Given the description of an element on the screen output the (x, y) to click on. 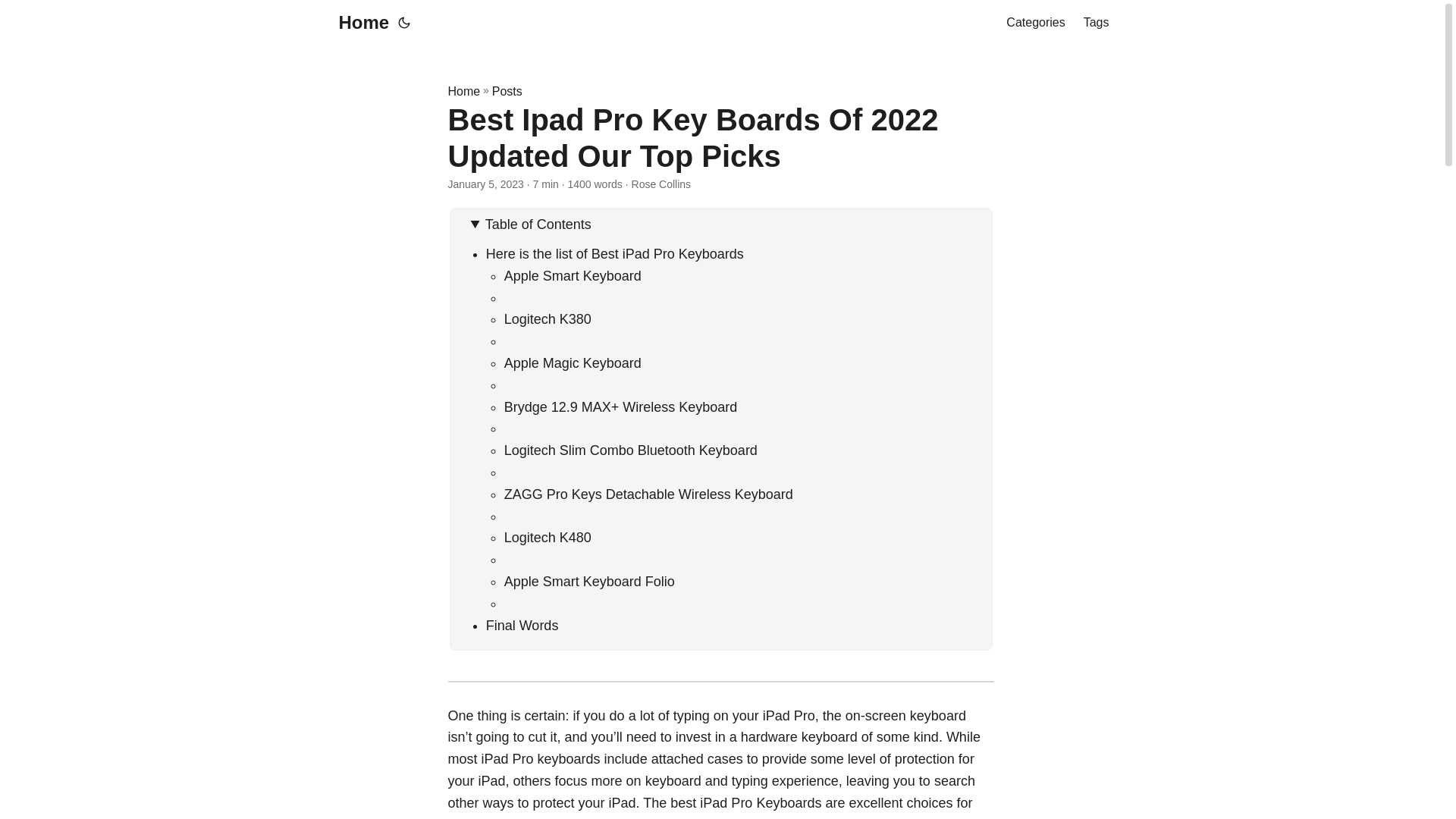
Categories (1035, 22)
Apple Magic Keyboard (572, 363)
Logitech Slim Combo Bluetooth Keyboard (630, 450)
Final Words (522, 625)
Logitech K380 (547, 319)
Apple Smart Keyboard Folio (589, 581)
Home (463, 91)
Categories (1035, 22)
Posts (507, 91)
Apple Smart Keyboard (572, 275)
Home (359, 22)
Logitech K480 (547, 537)
ZAGG Pro Keys Detachable Wireless Keyboard (648, 494)
